Given the description of an element on the screen output the (x, y) to click on. 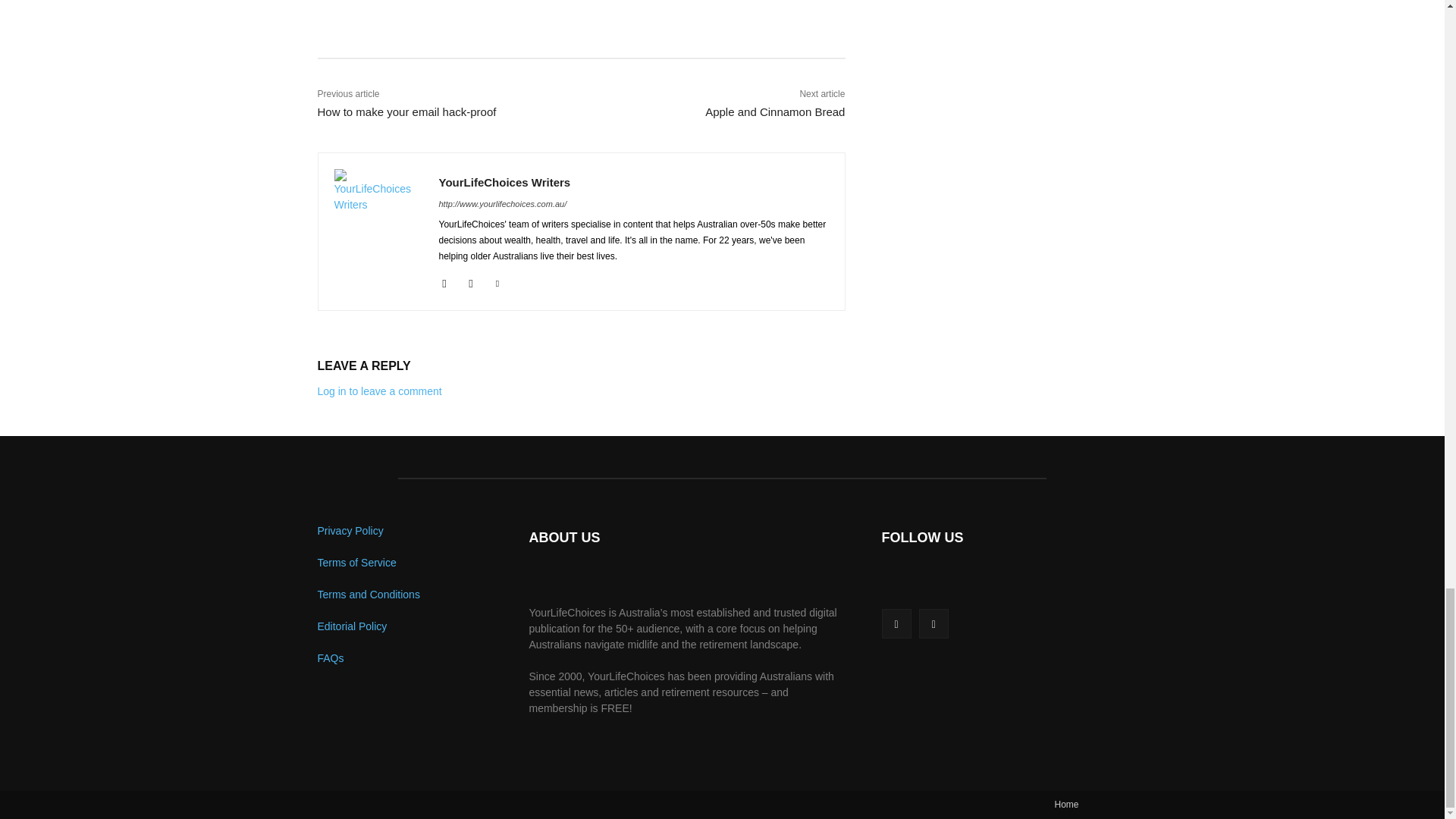
Facebook (443, 280)
Linkedin (497, 280)
Instagram (471, 280)
